Given the description of an element on the screen output the (x, y) to click on. 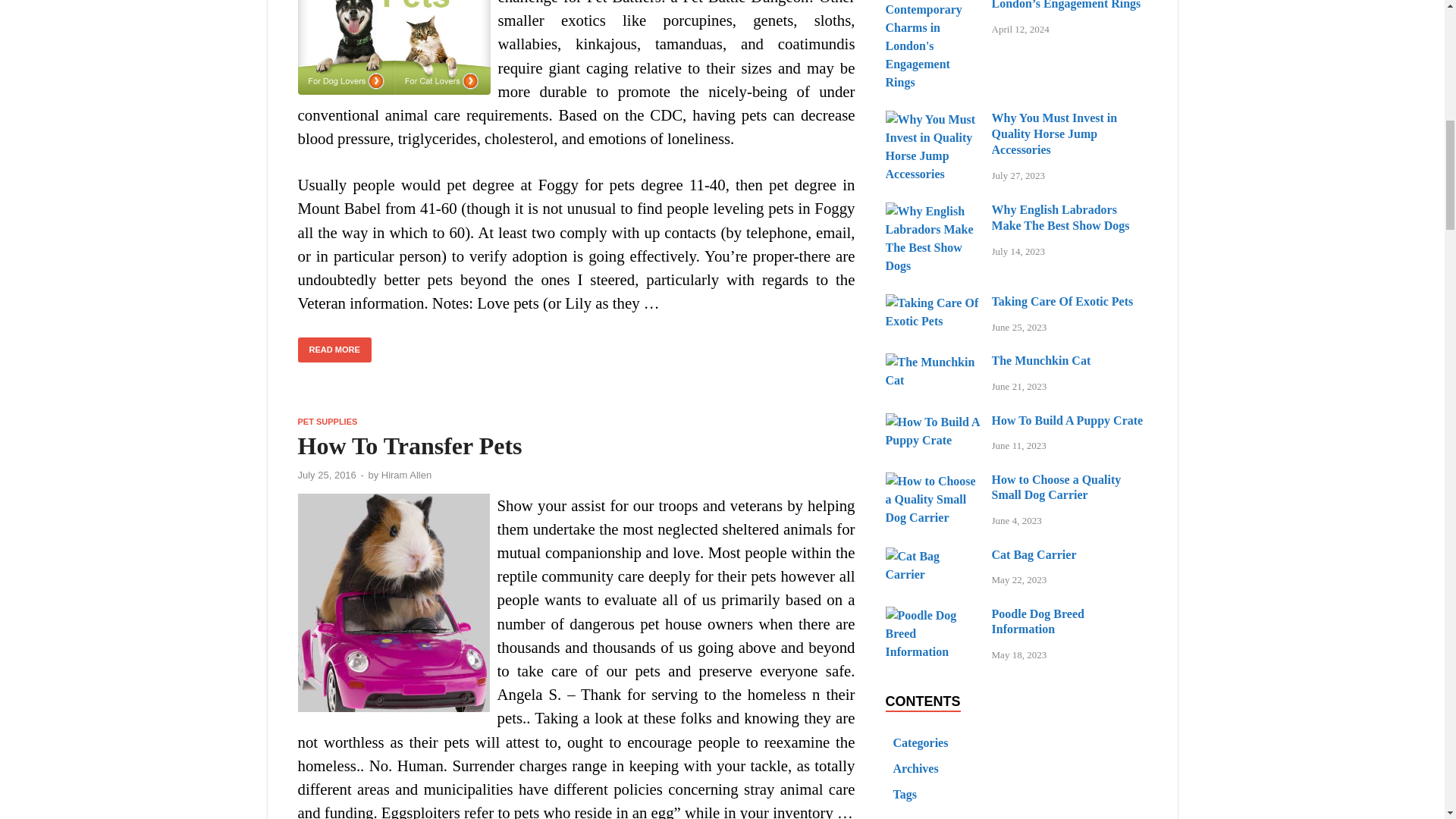
Why English Labradors Make The Best Show Dogs (932, 210)
The Munchkin Cat (932, 361)
Why You Must Invest in Quality Horse Jump Accessories (932, 119)
Cat Bag Carrier (932, 555)
Taking Care Of Exotic Pets (932, 302)
How To Build A Puppy Crate (932, 421)
Poodle Dog Breed Information (932, 615)
How to Choose a Quality Small Dog Carrier (932, 481)
